Given the description of an element on the screen output the (x, y) to click on. 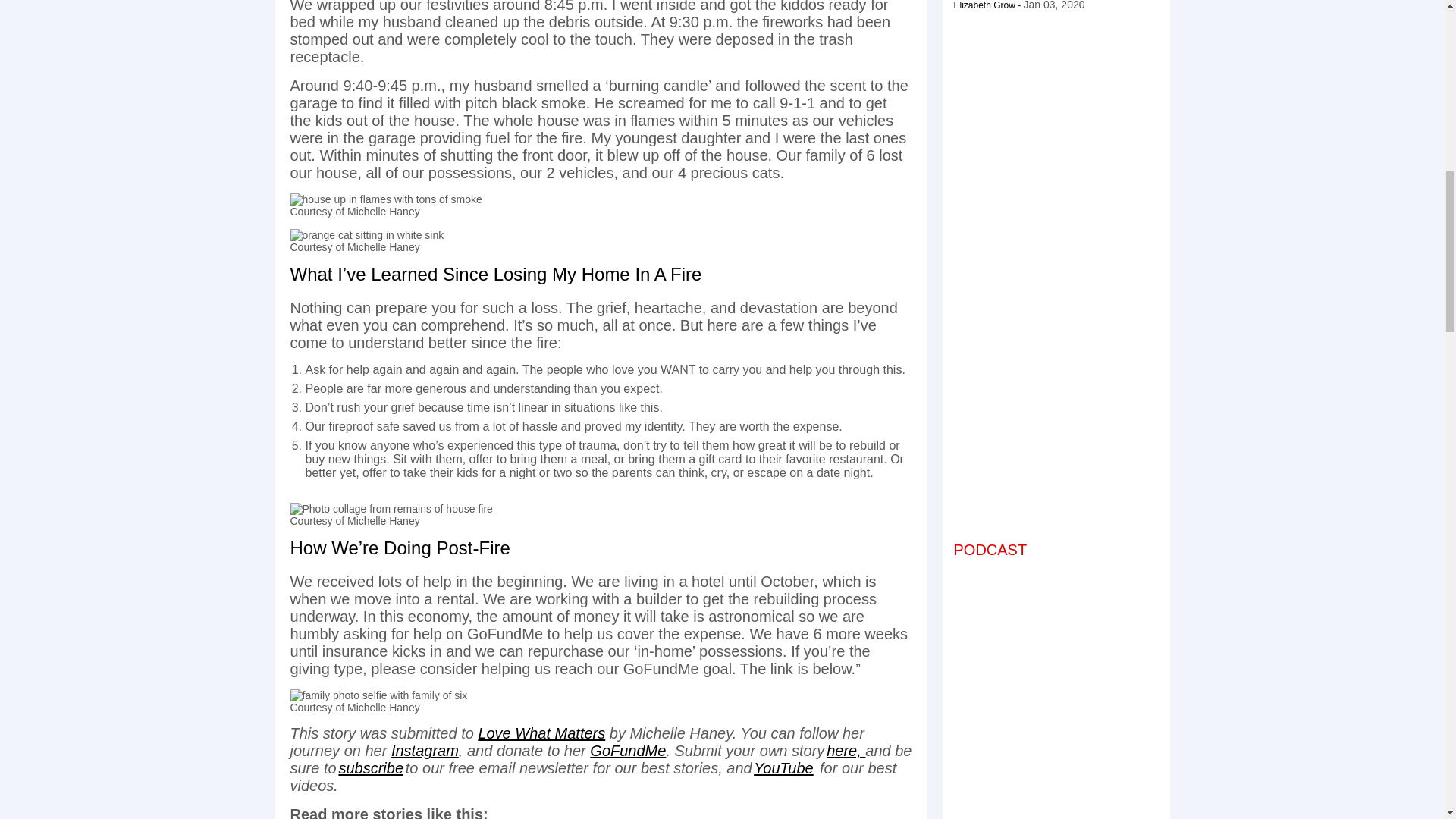
January 3, 2020 (1053, 5)
